Given the description of an element on the screen output the (x, y) to click on. 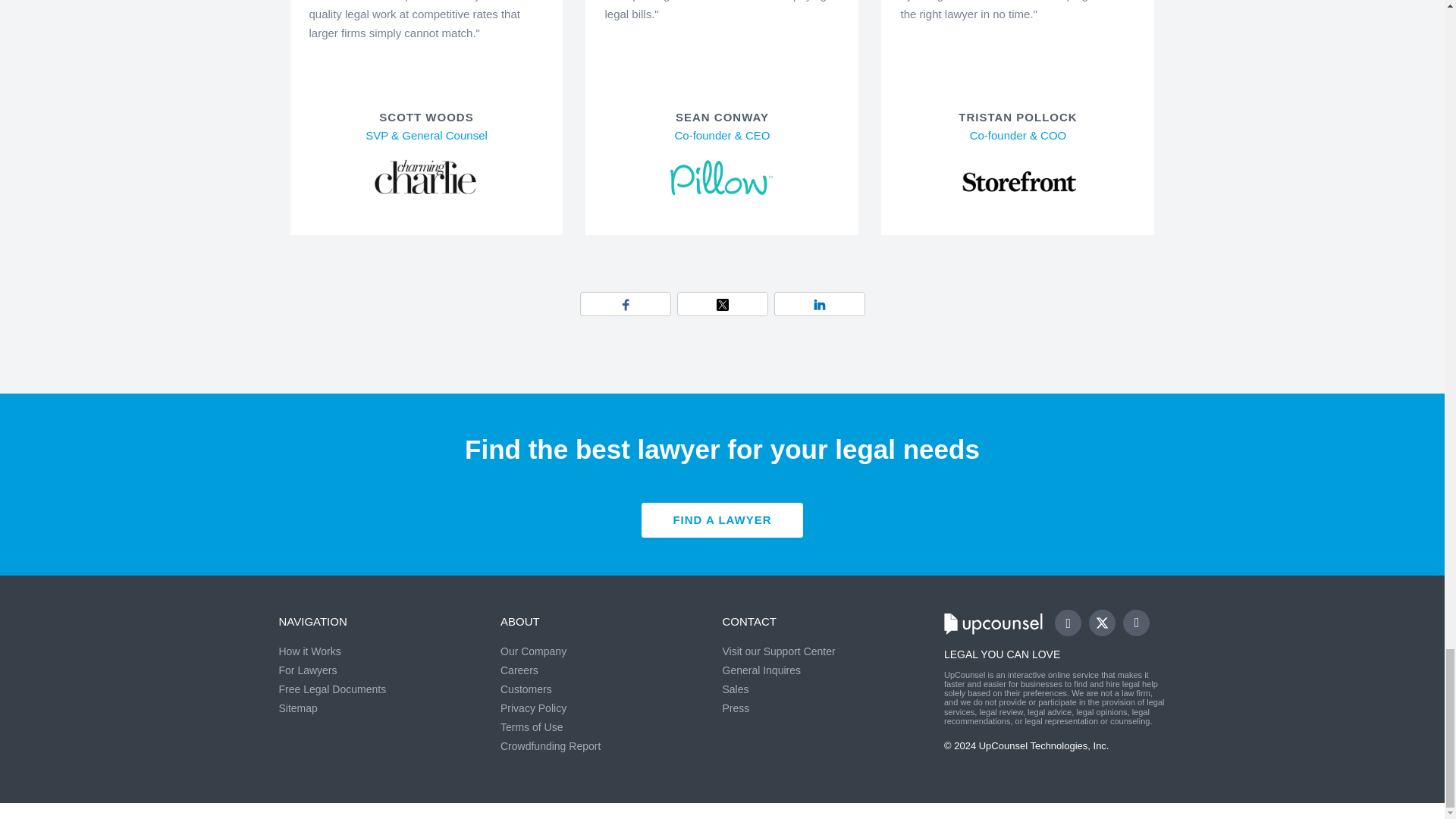
Like us on Facebook (1067, 622)
Connect with us on LinkedIn (1136, 622)
Follow us on Twitter (1109, 629)
